Given the description of an element on the screen output the (x, y) to click on. 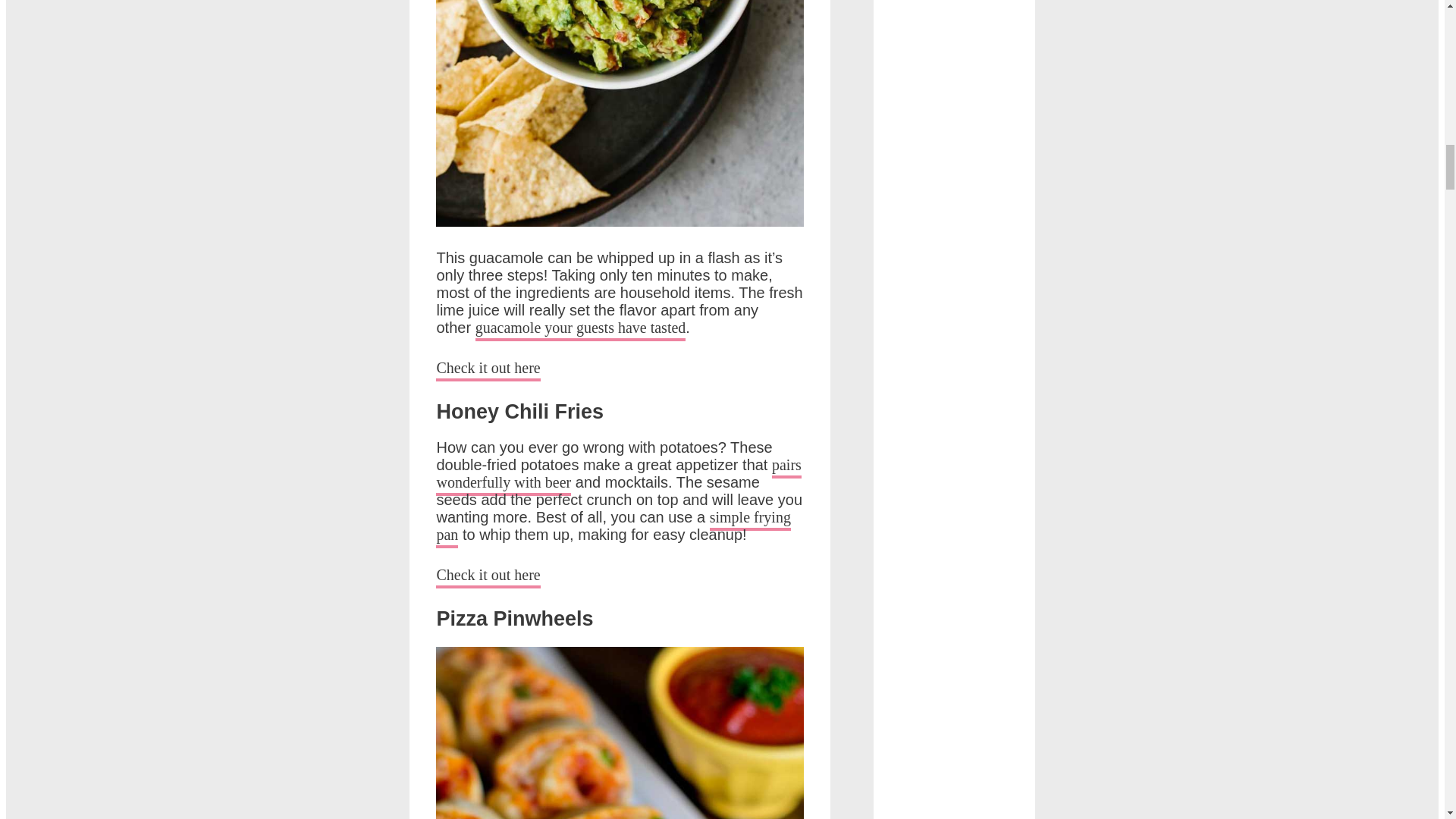
Check it out here (487, 577)
pairs wonderfully with beer (617, 476)
Check it out here (487, 370)
simple frying pan (612, 527)
guacamole your guests have tasted (580, 330)
